Given the description of an element on the screen output the (x, y) to click on. 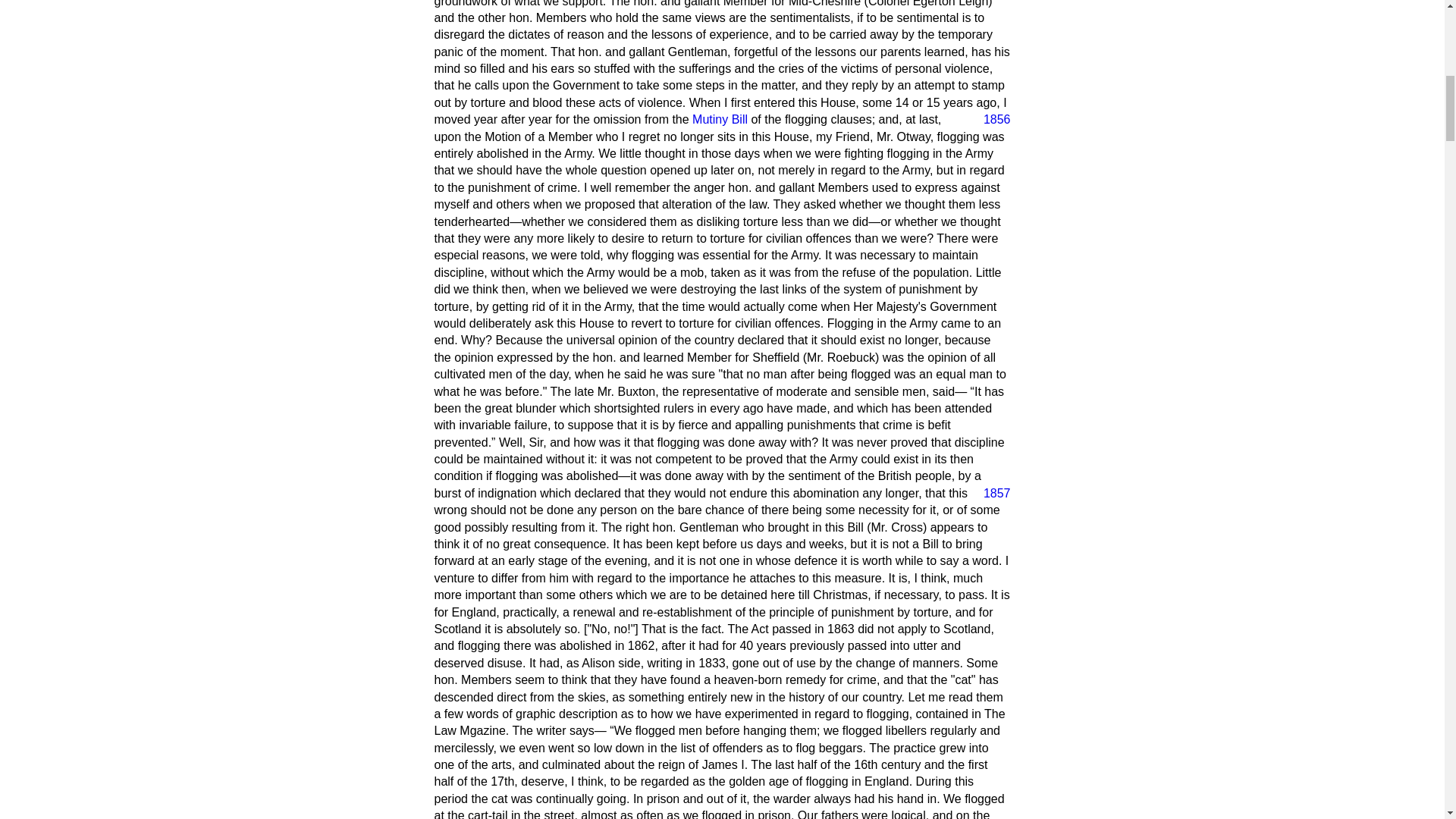
1857 (990, 493)
1856 (990, 119)
Mutiny Bill (720, 119)
